Given the description of an element on the screen output the (x, y) to click on. 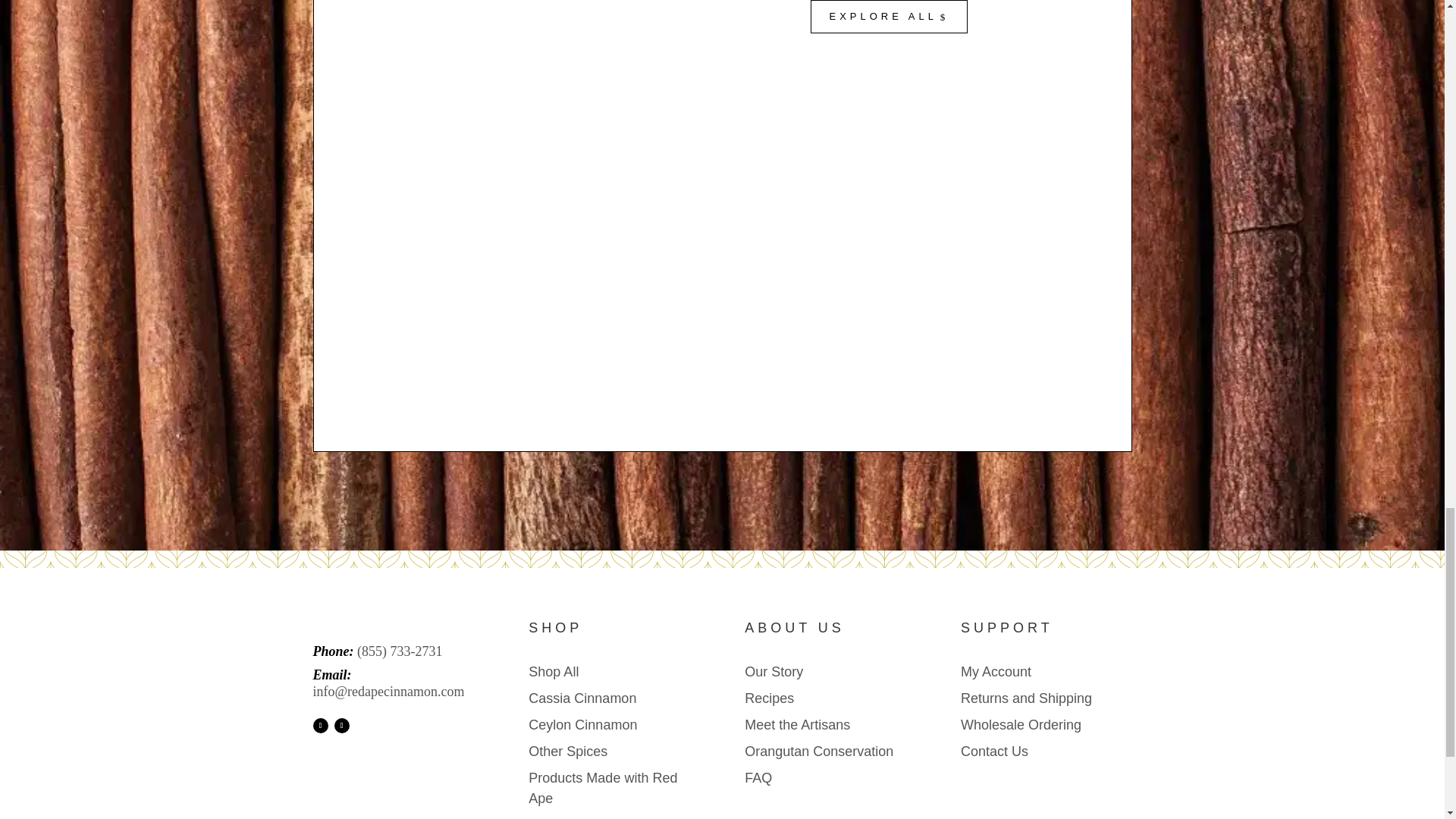
Follow on Instagram (341, 725)
Follow on Facebook (320, 725)
